Given the description of an element on the screen output the (x, y) to click on. 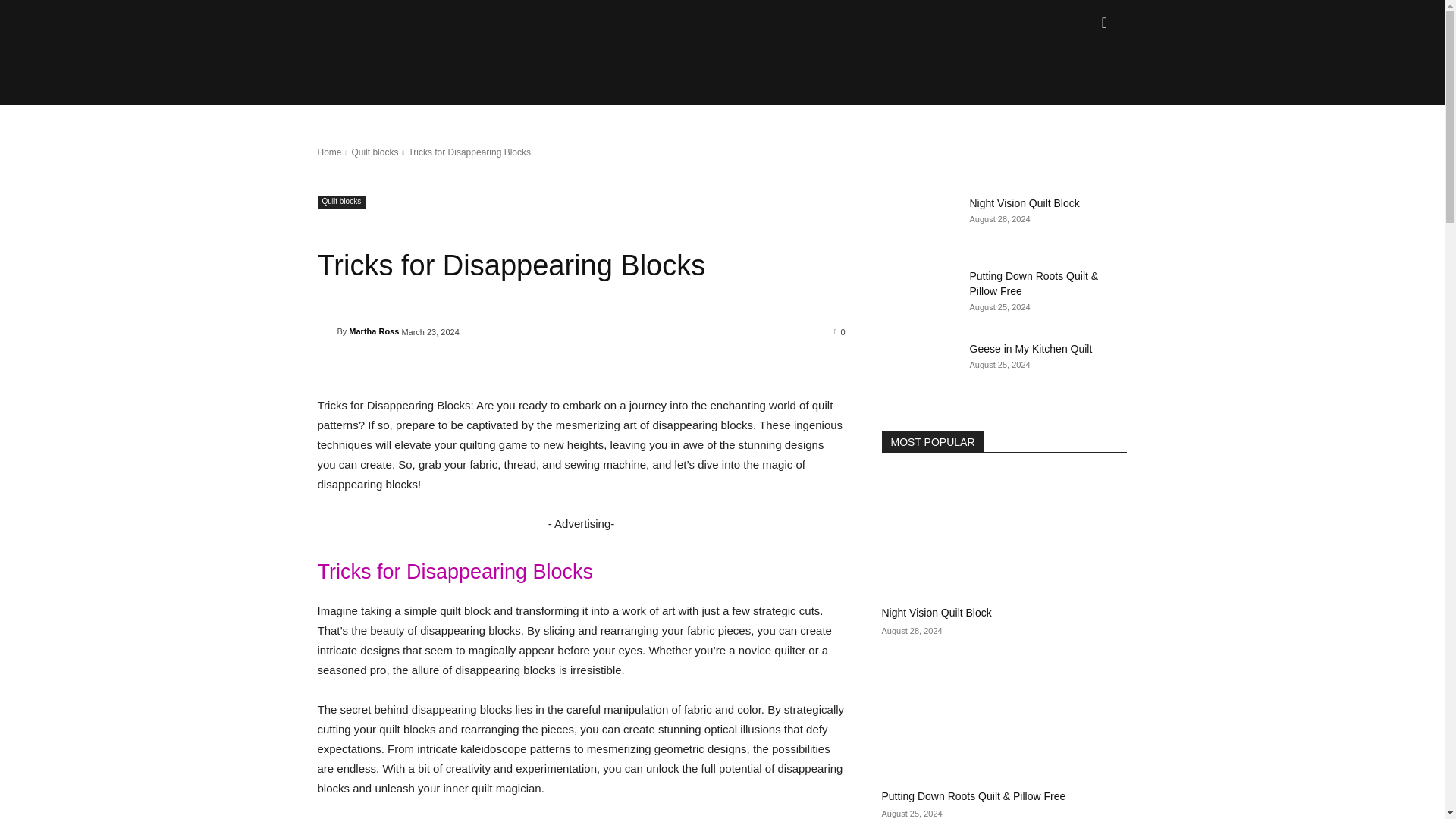
Quilt blocks (341, 201)
Quilt blocks (373, 152)
Martha Ross (373, 331)
0 (839, 330)
View all posts in Quilt blocks (373, 152)
sssss (377, 33)
Martha Ross (326, 331)
Home (328, 152)
